Given the description of an element on the screen output the (x, y) to click on. 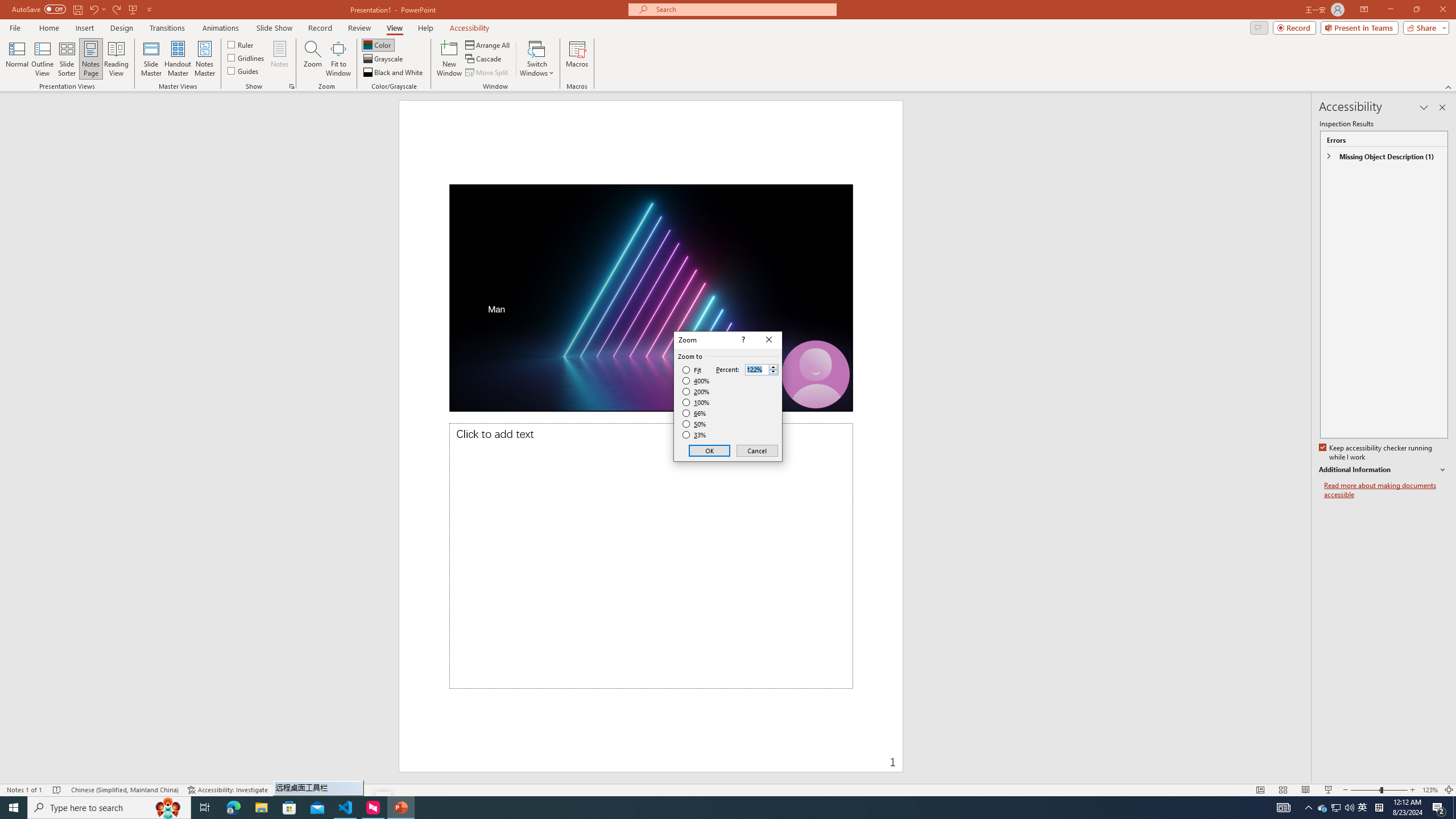
OK (709, 450)
Context help (742, 339)
Slide Master (151, 58)
Percent (756, 369)
66% (694, 412)
200% (696, 391)
Percent (761, 369)
